Given the description of an element on the screen output the (x, y) to click on. 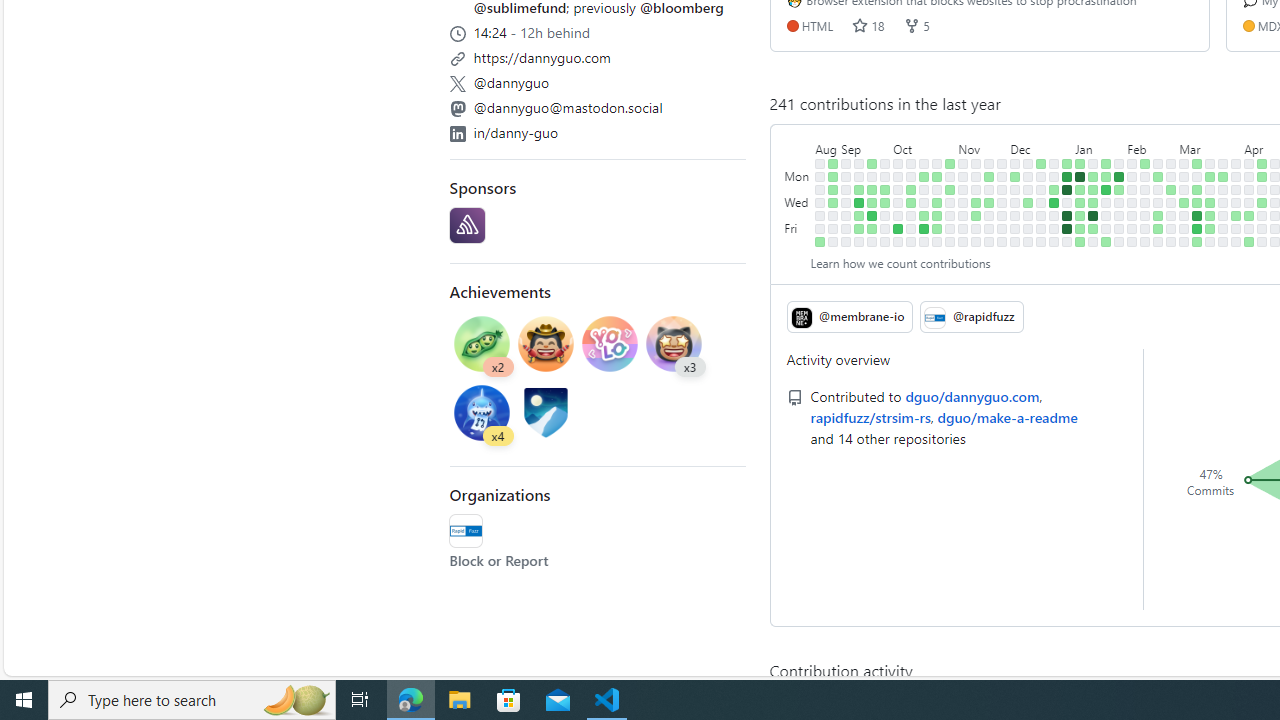
2 contributions on September 19th. (872, 189)
Achievement: Quickdraw (545, 345)
1 contribution on March 21st. (1210, 215)
January (1100, 145)
No contributions on December 29th. (1054, 228)
No contributions on September 10th. (859, 163)
August (826, 145)
No contributions on February 24th. (1158, 241)
No contributions on October 8th. (911, 163)
Achievement: Arctic Code Vault Contributor (545, 415)
February (1151, 145)
No contributions on February 20th. (1158, 189)
1 contribution on February 22nd. (1158, 215)
No contributions on December 24th. (1054, 163)
No contributions on October 14th. (911, 241)
